Given the description of an element on the screen output the (x, y) to click on. 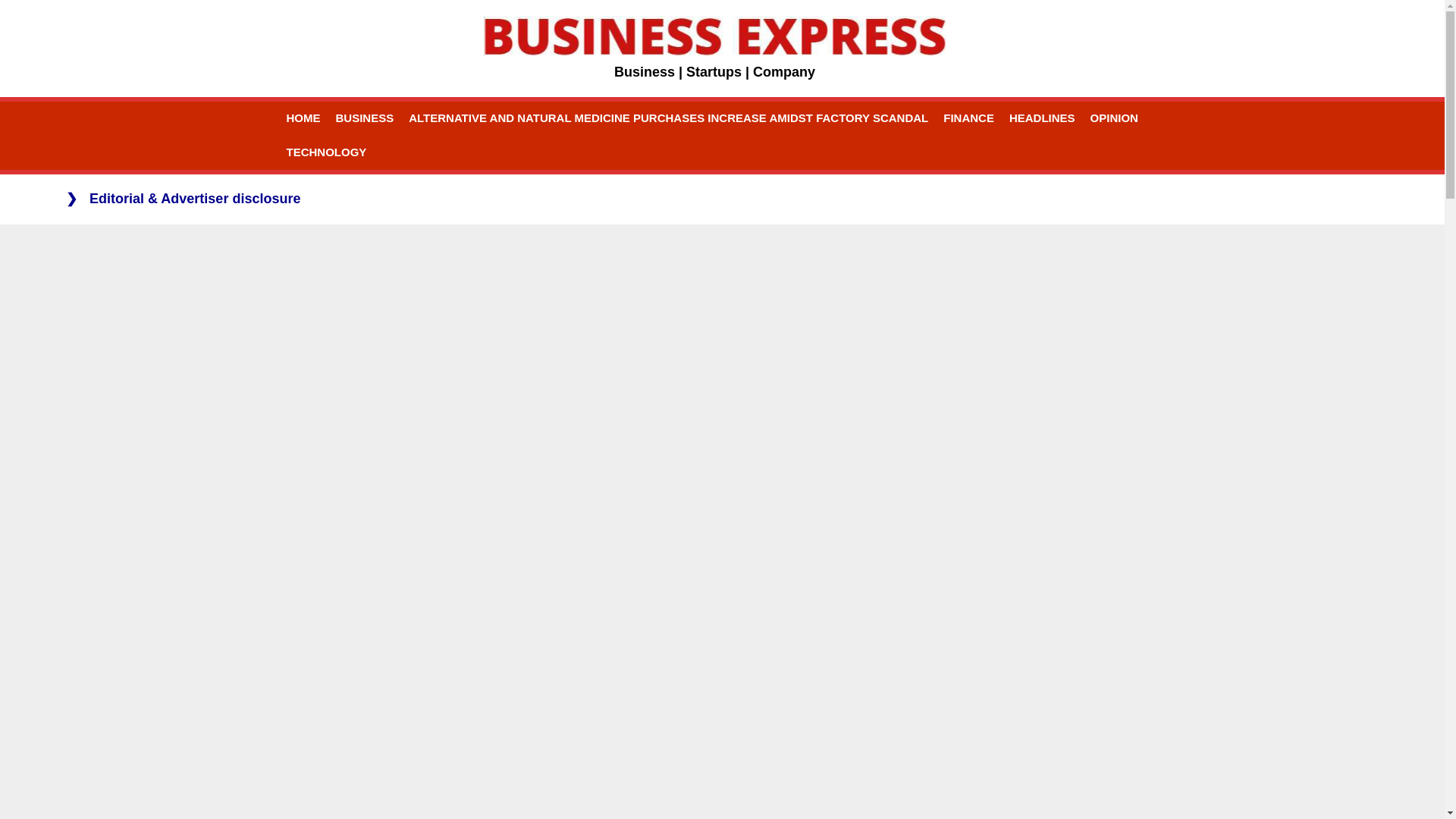
FINANCE (968, 118)
HOME (304, 118)
HEADLINES (1042, 118)
BUSINESS (364, 118)
